Given the description of an element on the screen output the (x, y) to click on. 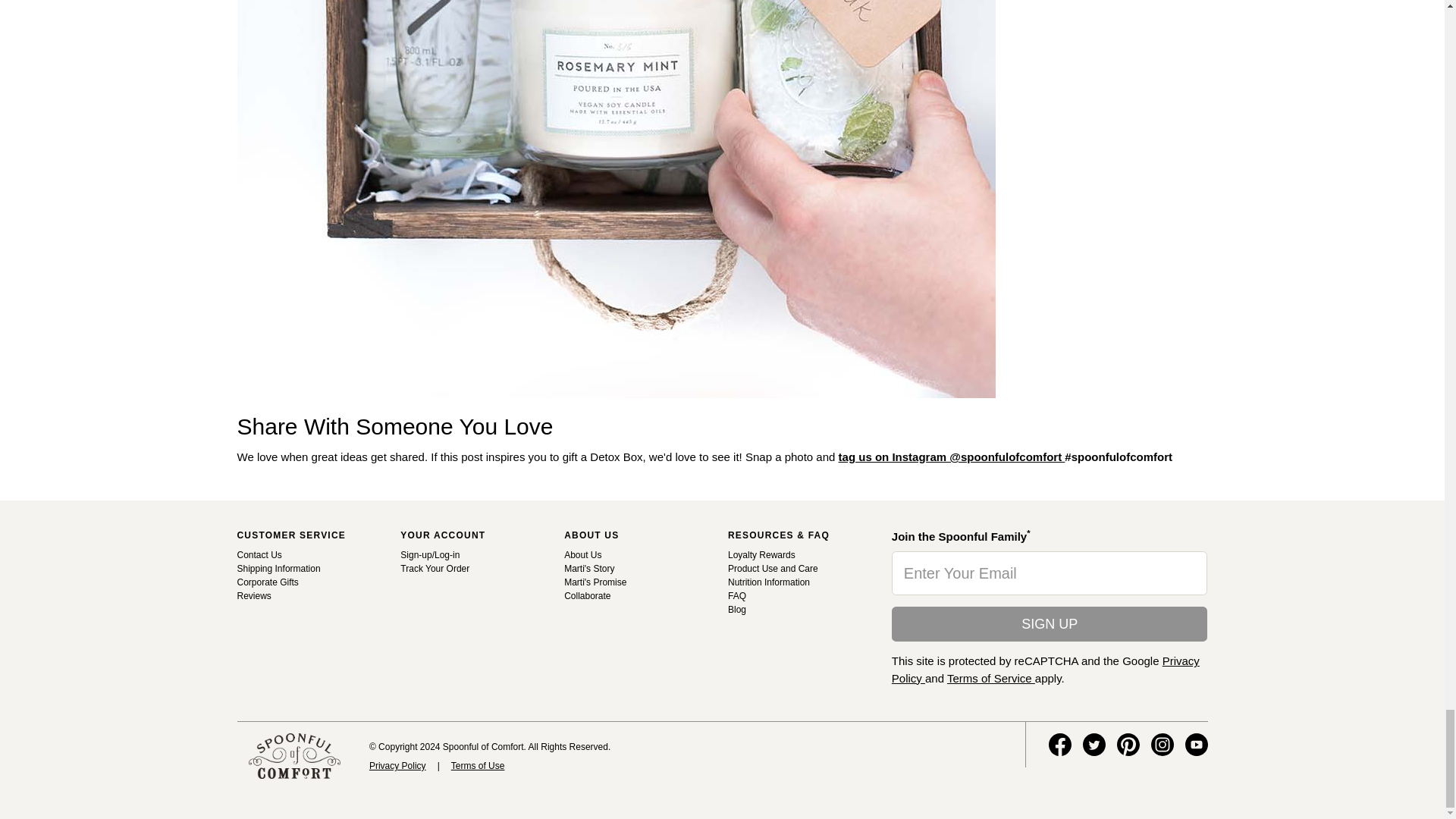
This field is required. (1049, 573)
